Given the description of an element on the screen output the (x, y) to click on. 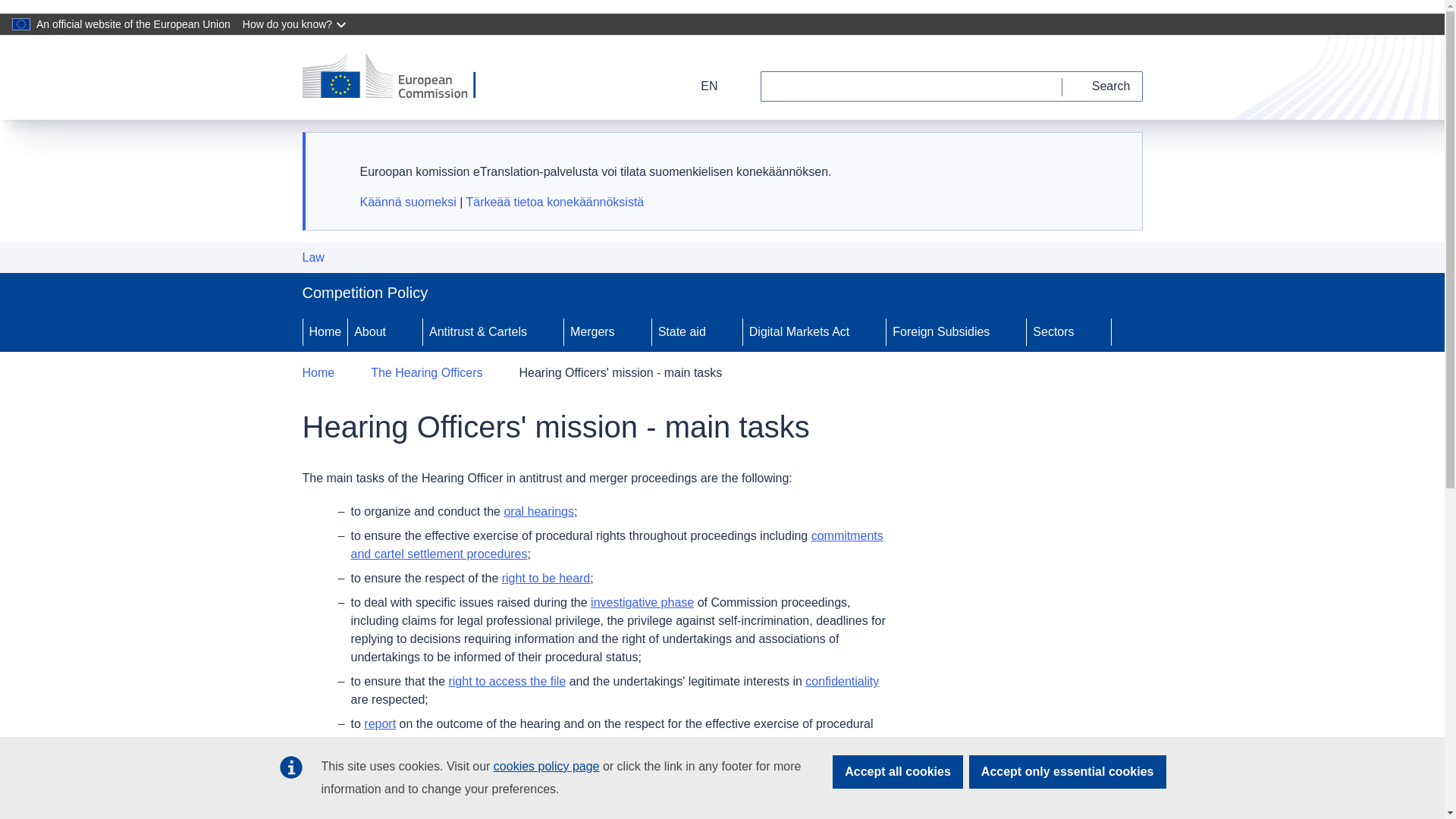
Search (1102, 86)
Accept all cookies (897, 771)
European Commission (399, 77)
How do you know? (295, 24)
Law (312, 257)
Accept only essential cookies (1067, 771)
cookies policy page (546, 766)
Home (324, 332)
About (367, 332)
EN (699, 86)
